Given the description of an element on the screen output the (x, y) to click on. 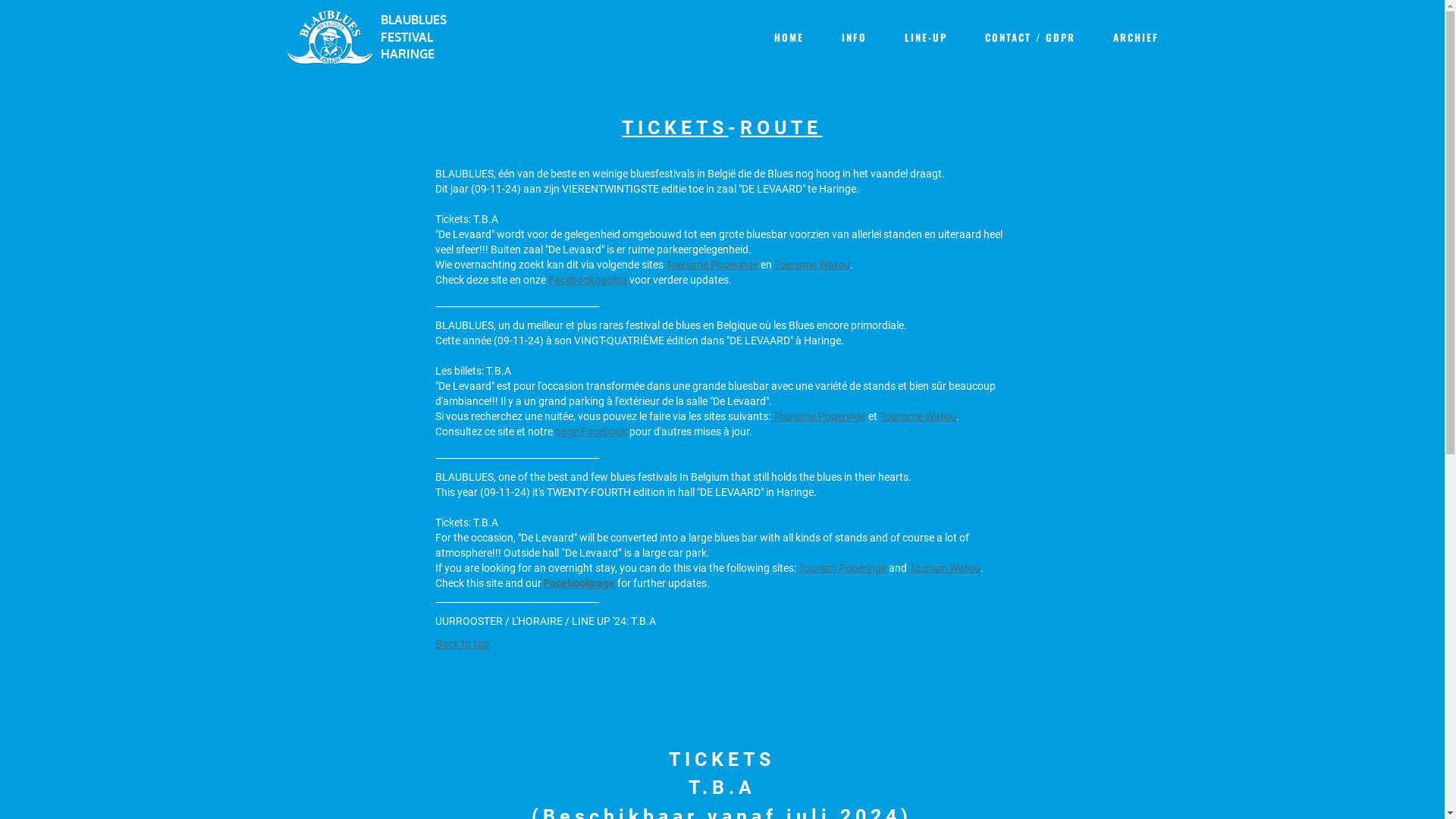
INFO Element type: text (853, 36)
home Element type: hover (329, 36)
Toerisme Poperinge Element type: text (711, 263)
TICKETS Element type: text (674, 127)
Toerisme Watou Element type: text (812, 263)
Back to top Element type: text (462, 643)
ROUTE Element type: text (781, 127)
Facebookpagina Element type: text (587, 279)
page Facebook Element type: text (591, 430)
BLAUBLUES FESTIVAL HARINGE Element type: text (419, 37)
Tourism Watou Element type: text (944, 567)
CONTACT / GDPR Element type: text (1029, 36)
Facebookpage Element type: text (579, 582)
Tourisme Watou Element type: text (917, 415)
Tourism Poperinge Element type: text (842, 567)
LINE-UP Element type: text (924, 36)
Tourisme Poperinge Element type: text (819, 415)
ARCHIEF Element type: text (1135, 36)
HOME Element type: text (788, 36)
